Given the description of an element on the screen output the (x, y) to click on. 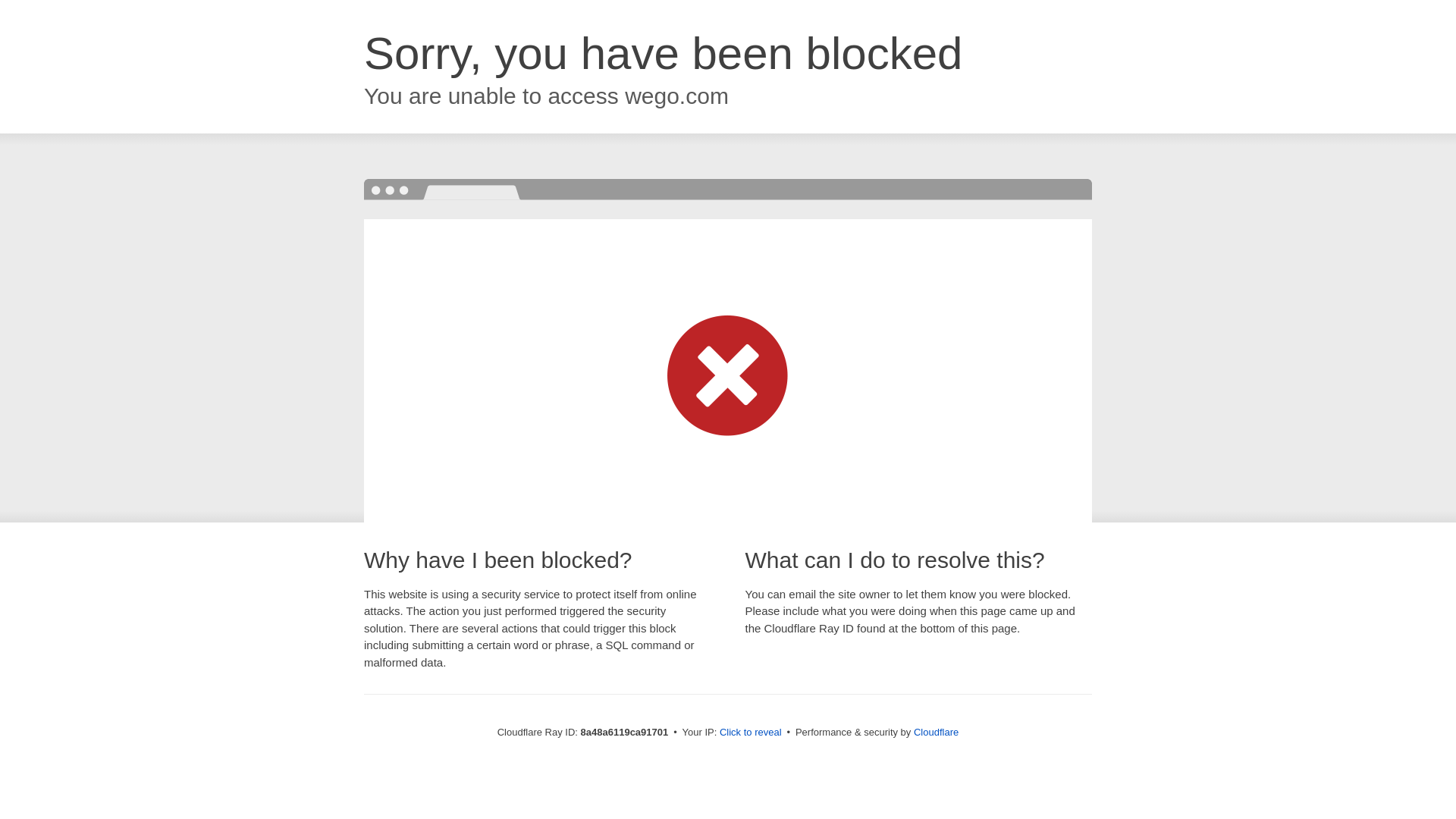
Cloudflare (936, 731)
Click to reveal (750, 732)
